Given the description of an element on the screen output the (x, y) to click on. 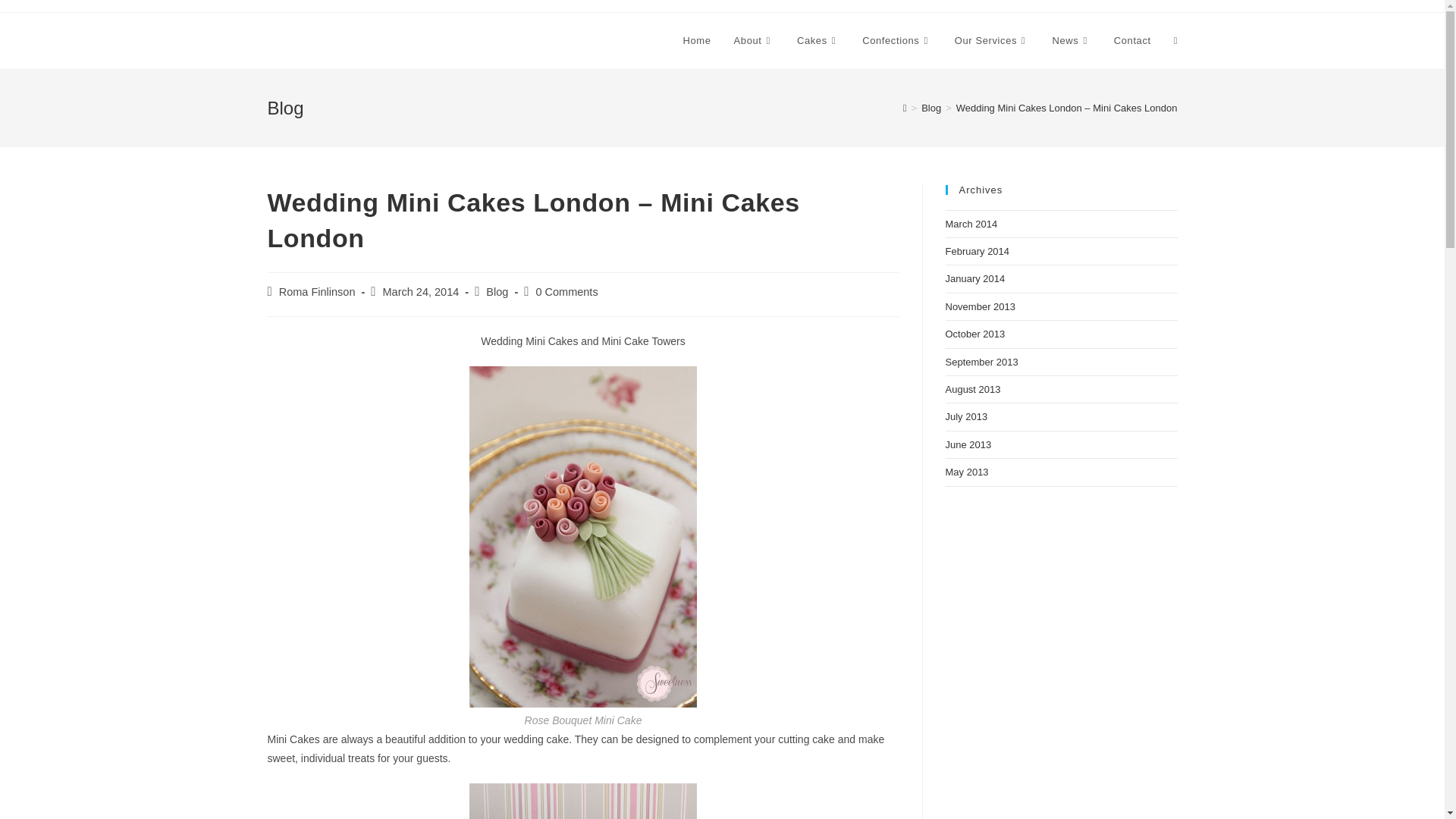
News (1071, 40)
Home (696, 40)
Cakes (818, 40)
Posts by Roma Finlinson (317, 291)
Our Services (992, 40)
Confections (896, 40)
Contact (1131, 40)
About (754, 40)
Cakes (818, 40)
Candy Stripe Rose mini cakes (582, 800)
